Given the description of an element on the screen output the (x, y) to click on. 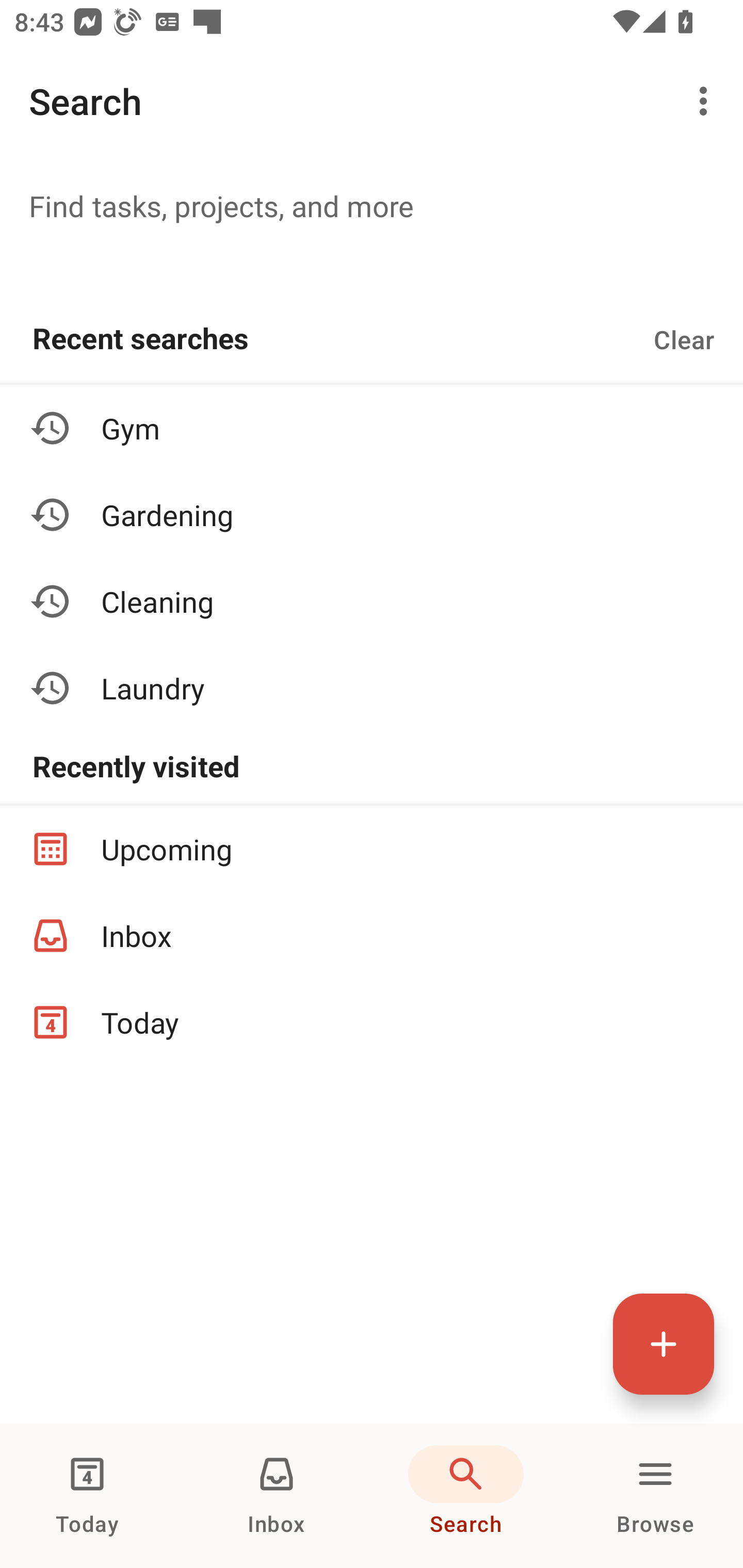
Search More options (371, 100)
More options (706, 101)
Find tasks, projects, and more (371, 205)
Clear (683, 339)
Gym (371, 427)
Gardening (371, 514)
Cleaning (371, 601)
Laundry (371, 687)
Upcoming (371, 848)
Inbox (371, 935)
Today (371, 1022)
Quick add (663, 1343)
Today (87, 1495)
Inbox (276, 1495)
Browse (655, 1495)
